Given the description of an element on the screen output the (x, y) to click on. 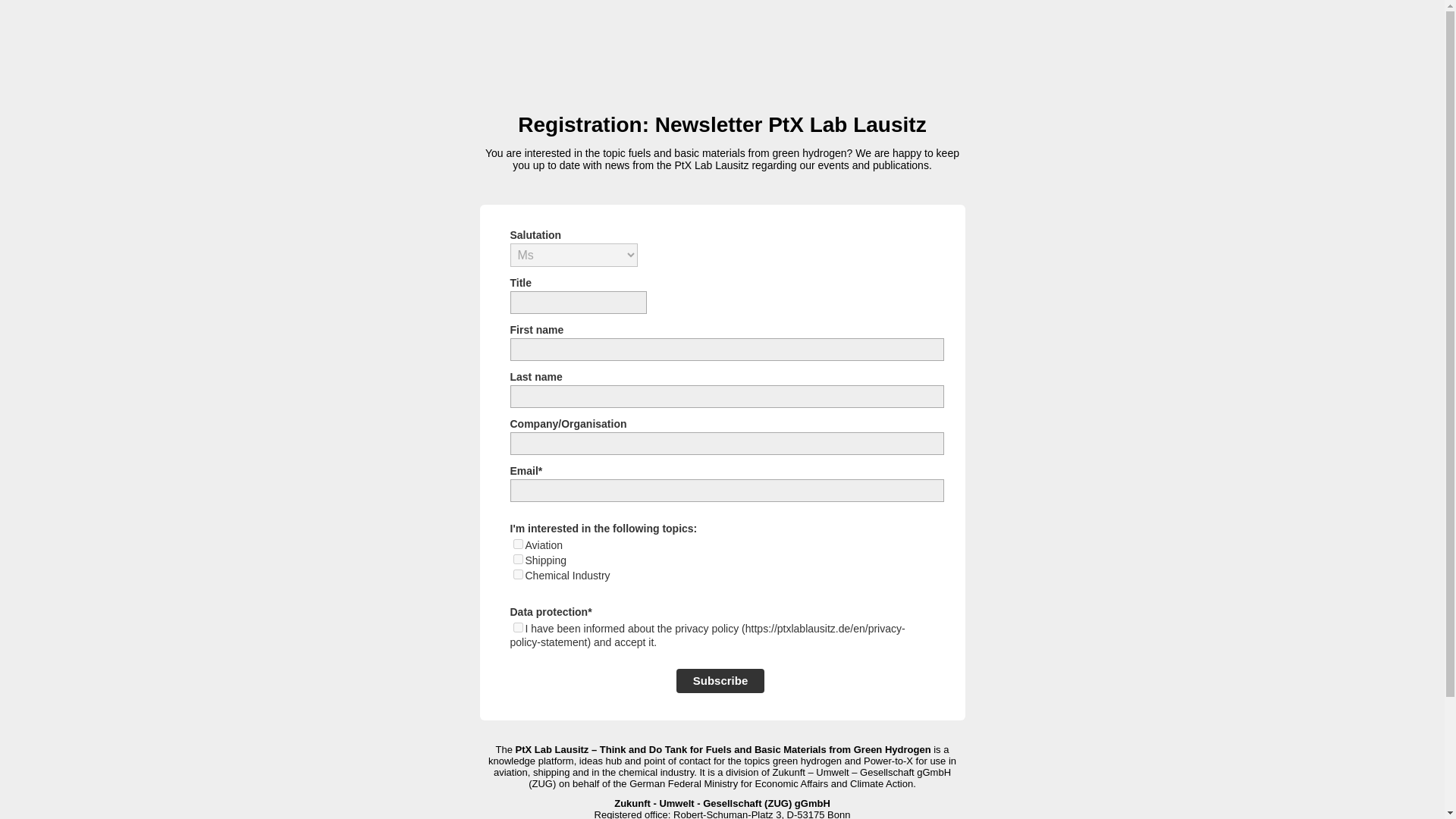
Aviation (517, 543)
Subscribe (721, 680)
Shipping (517, 559)
Chemical Industry (517, 574)
